Given the description of an element on the screen output the (x, y) to click on. 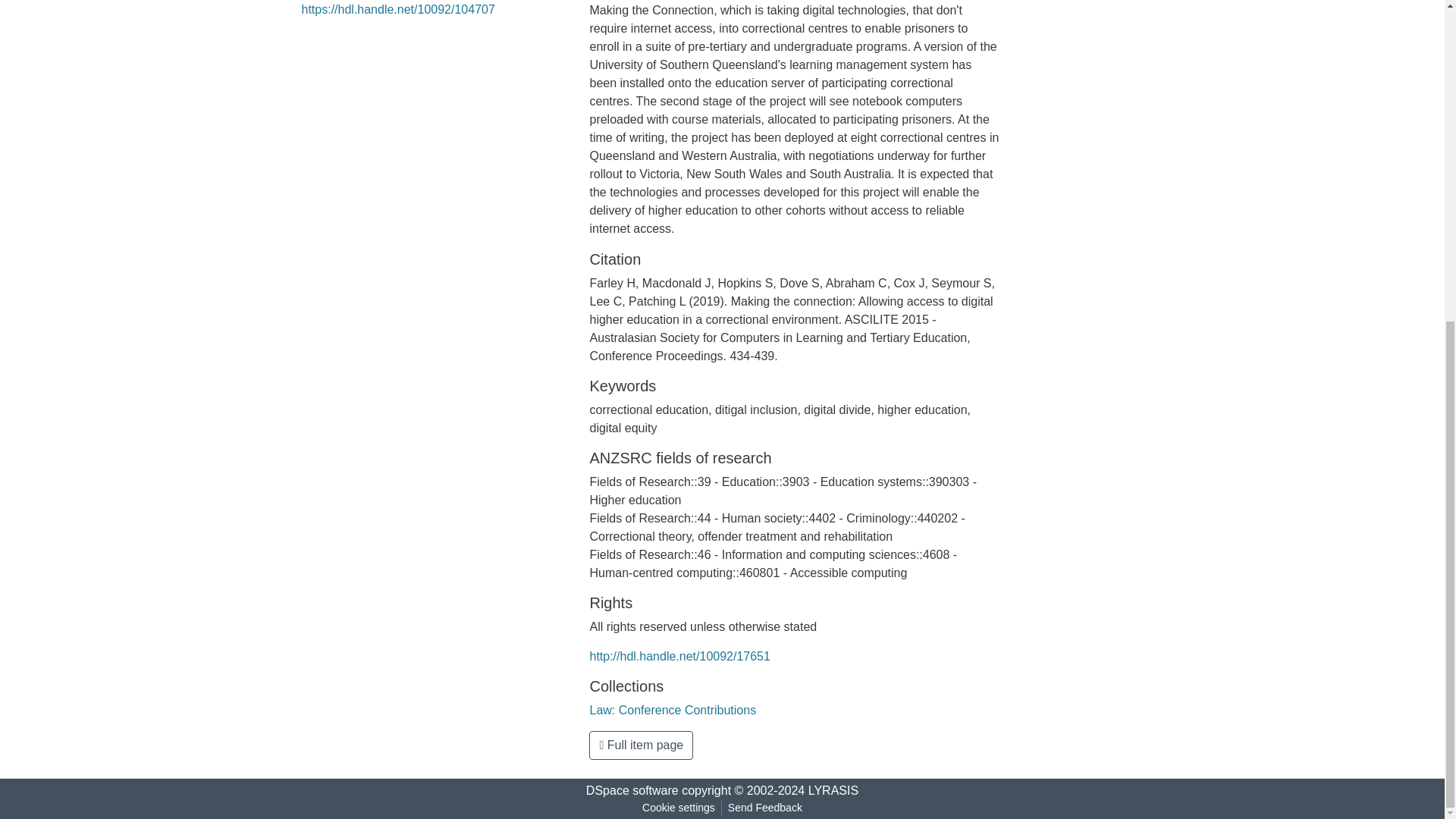
DSpace software (632, 789)
Send Feedback (765, 807)
Cookie settings (678, 807)
Law: Conference Contributions (672, 709)
Full item page (641, 745)
LYRASIS (833, 789)
